Given the description of an element on the screen output the (x, y) to click on. 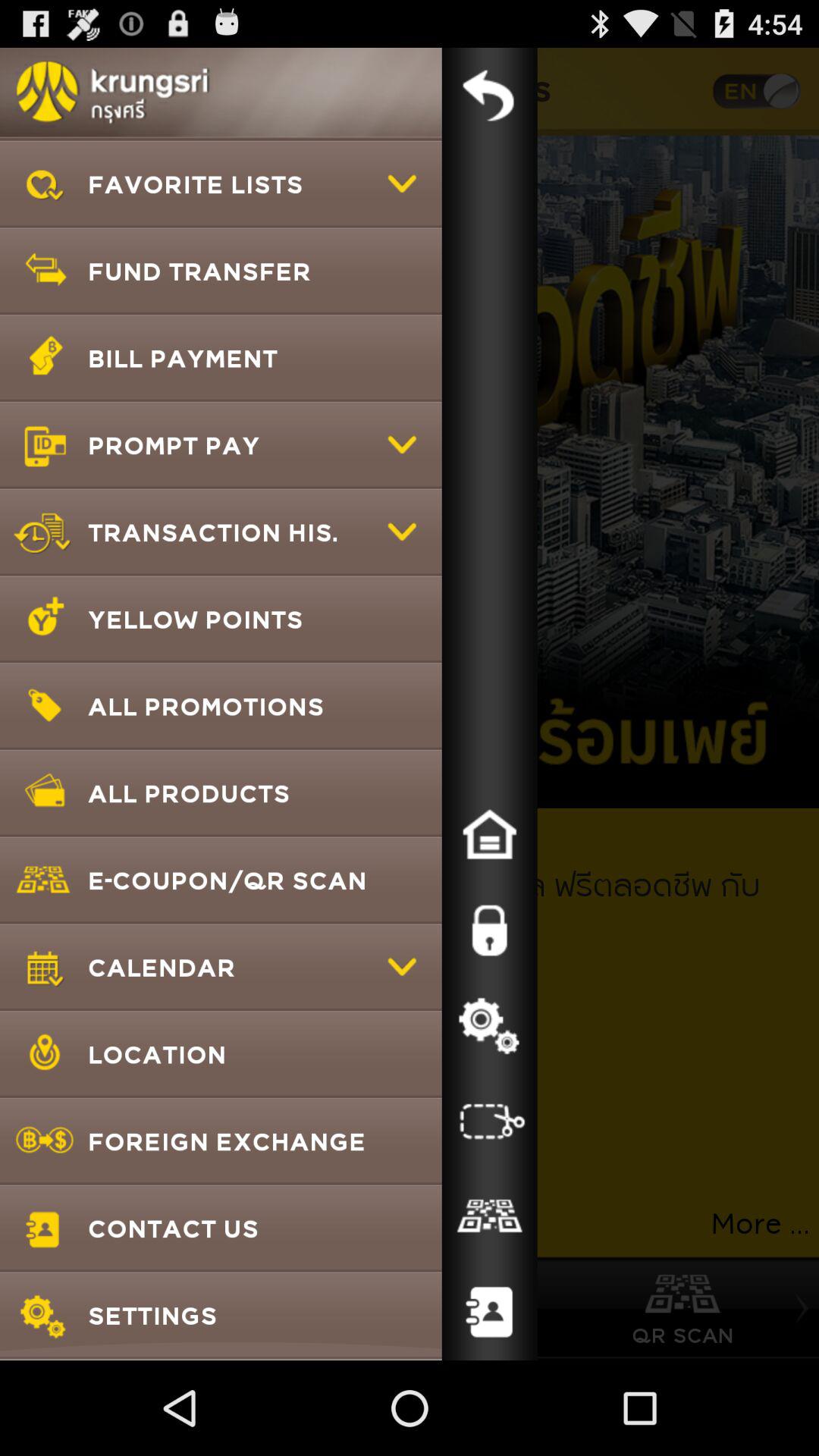
passwords and security options (489, 930)
